Given the description of an element on the screen output the (x, y) to click on. 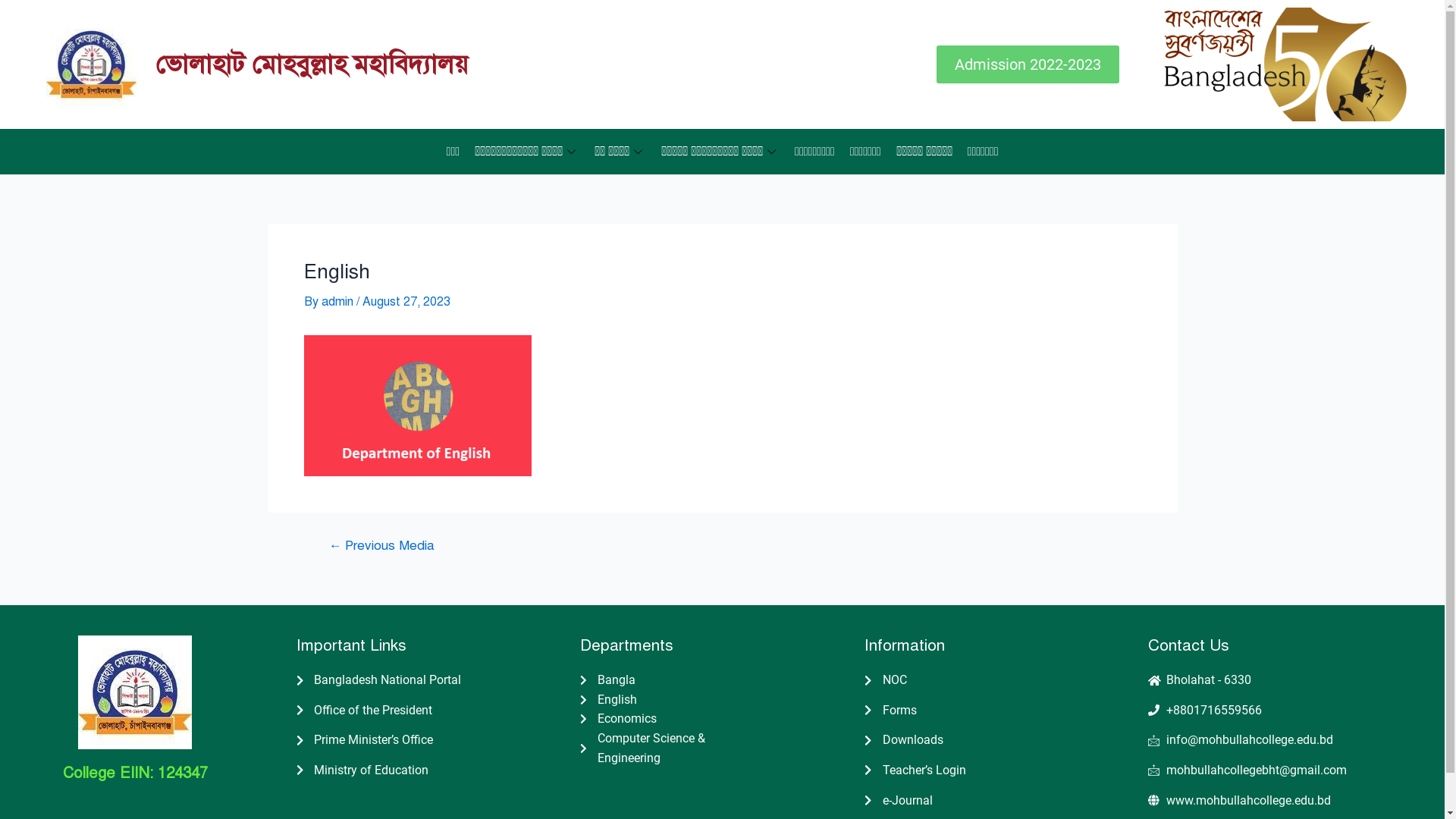
Computer Science &
Engineering Element type: text (722, 747)
Office of the President Element type: text (438, 710)
e-Journal Element type: text (1006, 800)
Admission 2022-2023 Element type: text (1027, 64)
Bangladesh National Portal Element type: text (438, 680)
www.mohbullahcollege.edu.bd Element type: text (1290, 800)
Economics Element type: text (722, 718)
admin Element type: text (338, 301)
Ministry of Education Element type: text (438, 770)
Forms Element type: text (1006, 710)
NOC Element type: text (1006, 680)
English Element type: text (722, 699)
sobornojointy Element type: hover (1285, 64)
Downloads Element type: text (1006, 739)
Bangla Element type: text (722, 680)
